Given the description of an element on the screen output the (x, y) to click on. 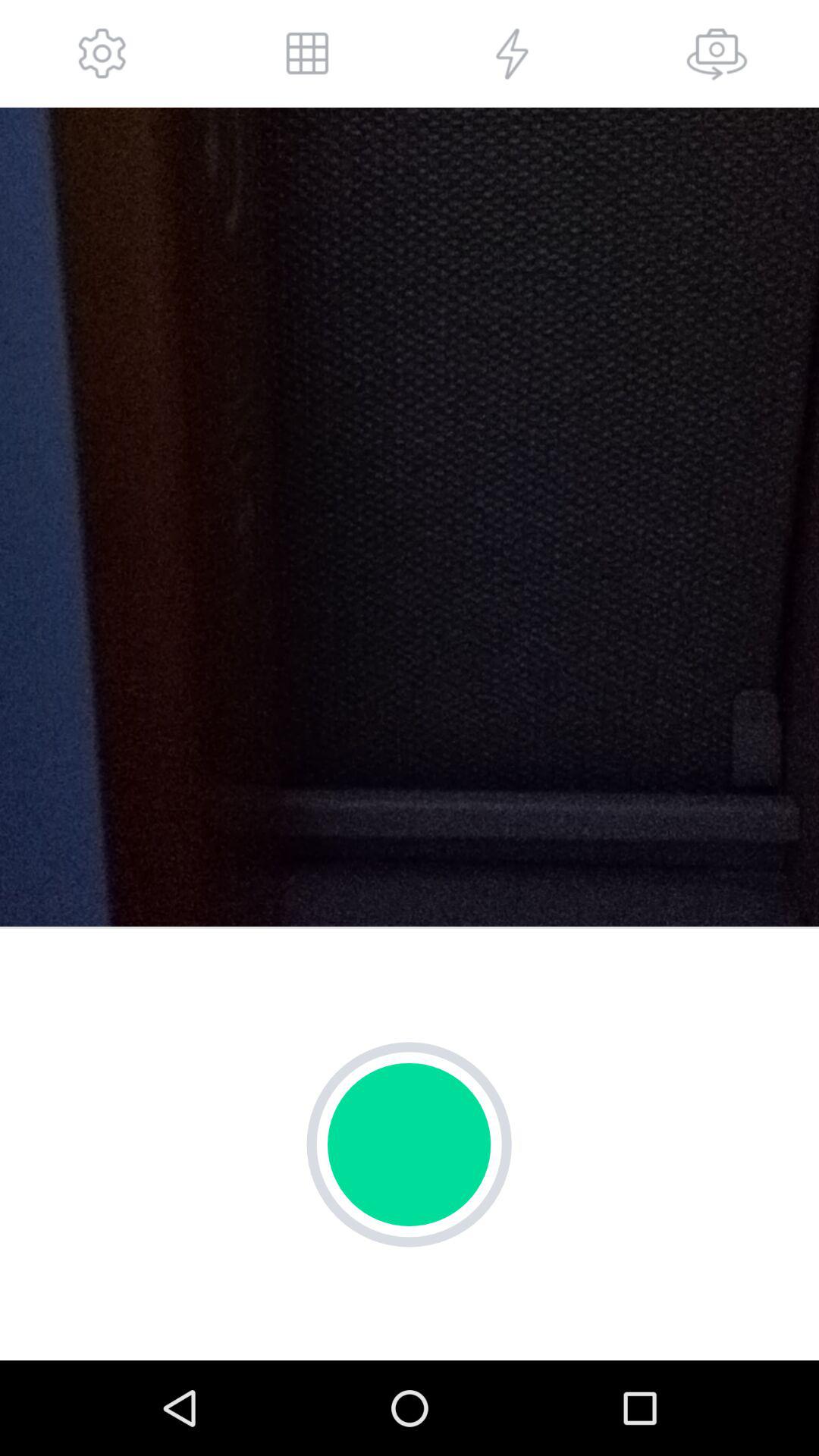
flip front cam (716, 53)
